Given the description of an element on the screen output the (x, y) to click on. 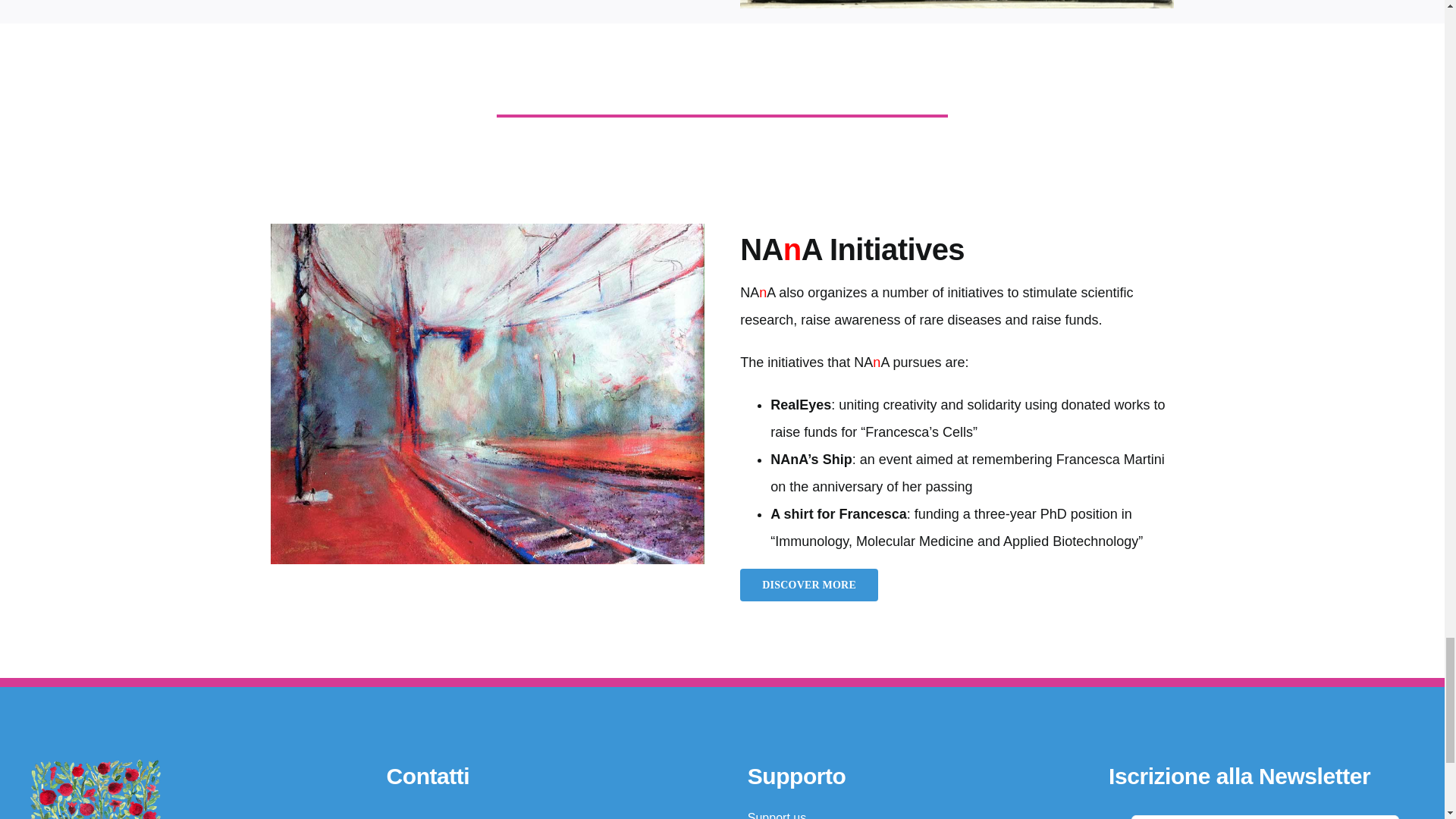
ISCRIVITI (1265, 810)
logo-NANA-ets (136, 787)
Con-la-Chitarra (956, 4)
